Given the description of an element on the screen output the (x, y) to click on. 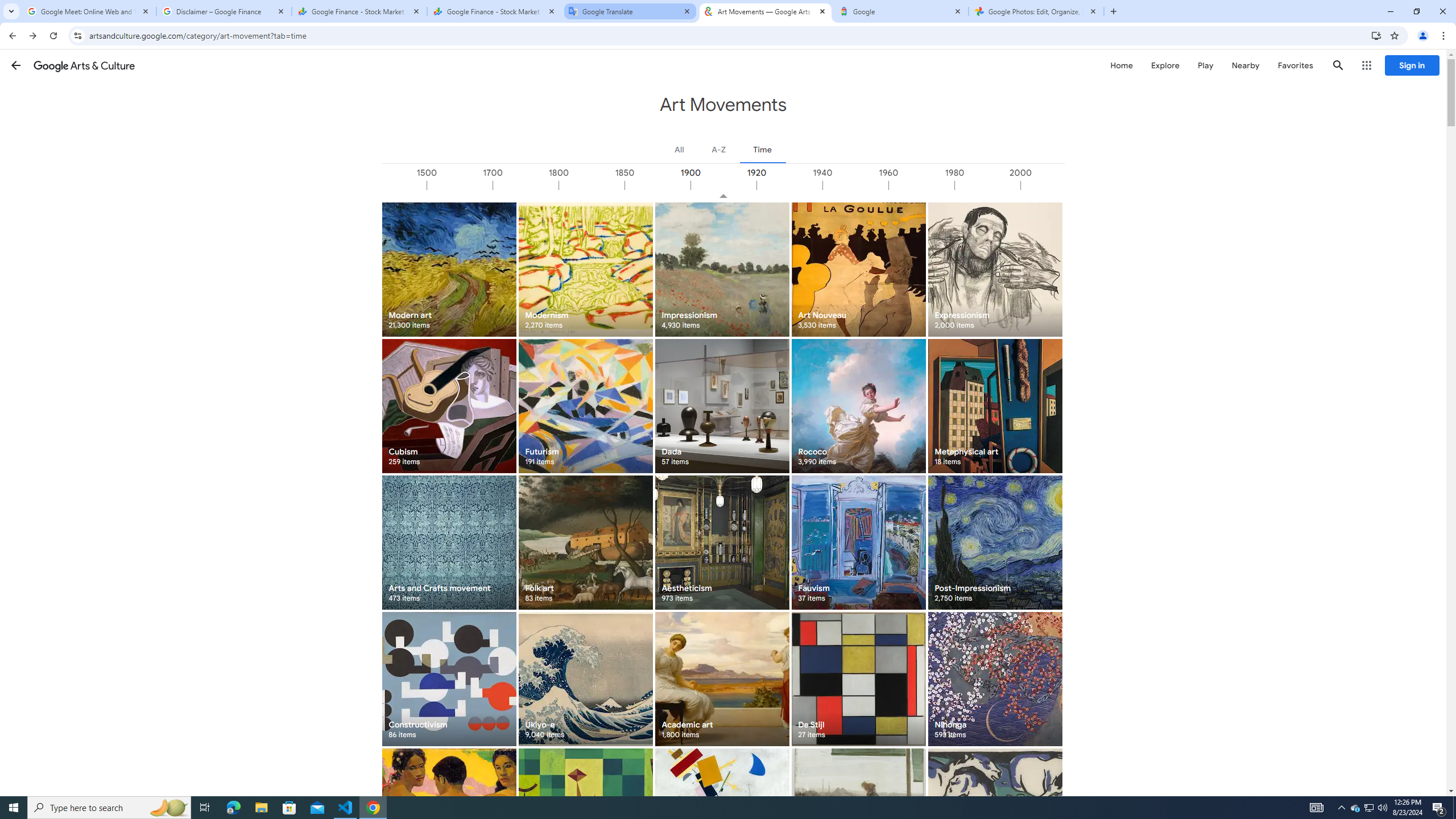
De Stijl 27 items (858, 678)
